Given the description of an element on the screen output the (x, y) to click on. 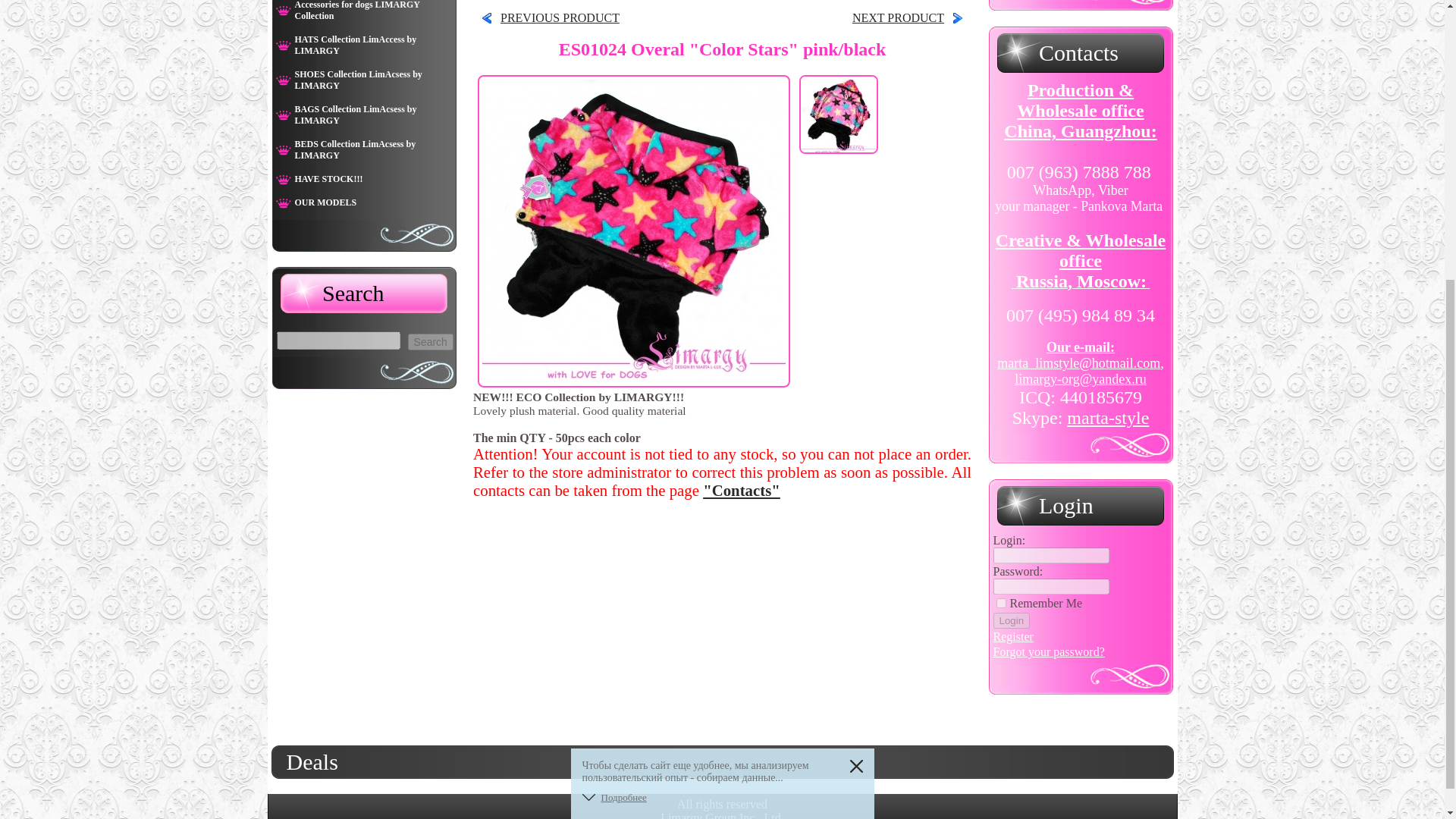
Y (1000, 603)
Remember me on this computer (1046, 603)
Login (1011, 620)
Search (429, 341)
Accessories for dogs LIMARGY Collection (360, 13)
ES01024-2 Overal "Color Stars" black (911, 18)
